Given the description of an element on the screen output the (x, y) to click on. 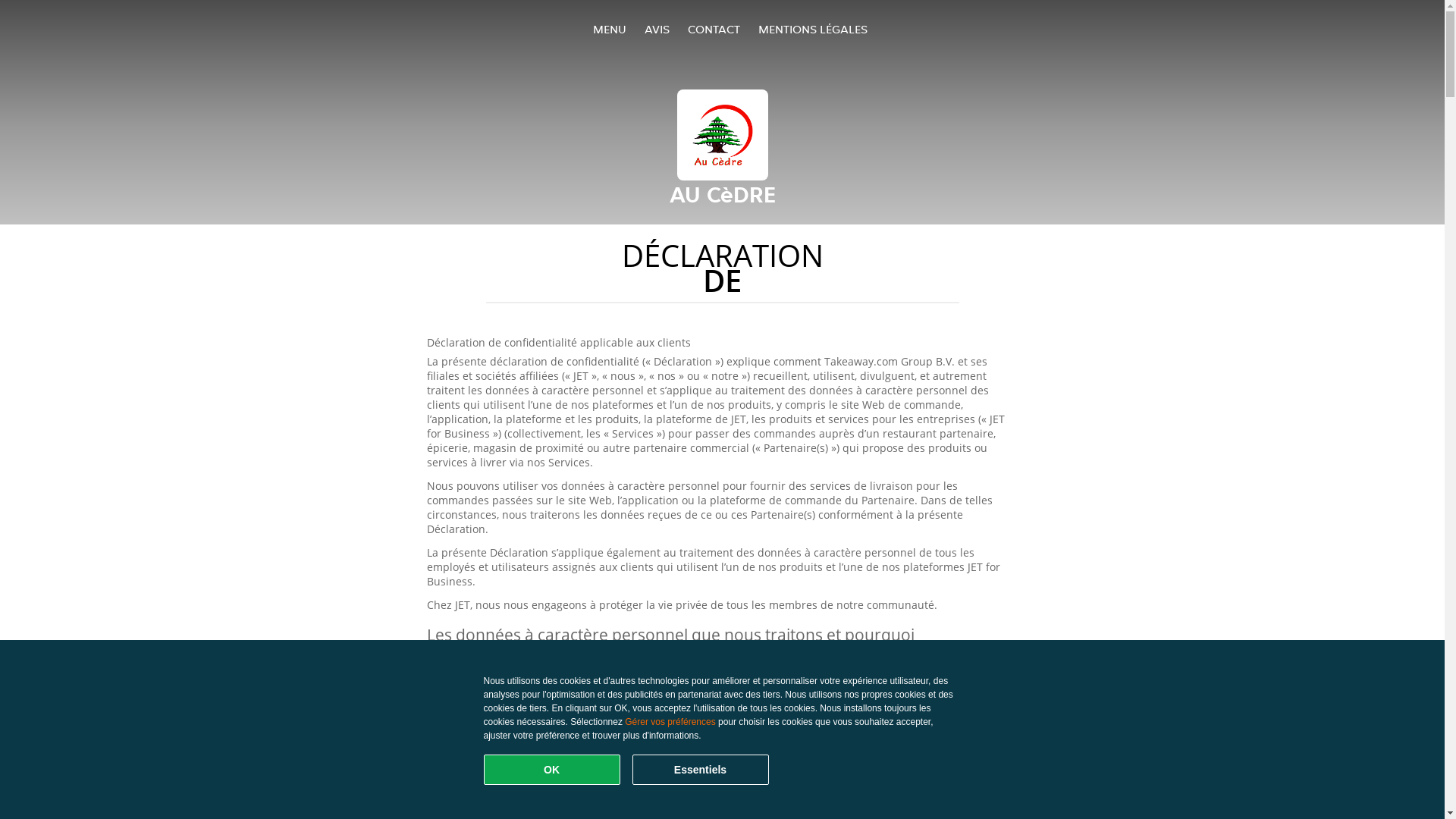
MENU Element type: text (609, 29)
AVIS Element type: text (656, 29)
Essentiels Element type: text (700, 769)
OK Element type: text (551, 769)
CONTACT Element type: text (713, 29)
